Given the description of an element on the screen output the (x, y) to click on. 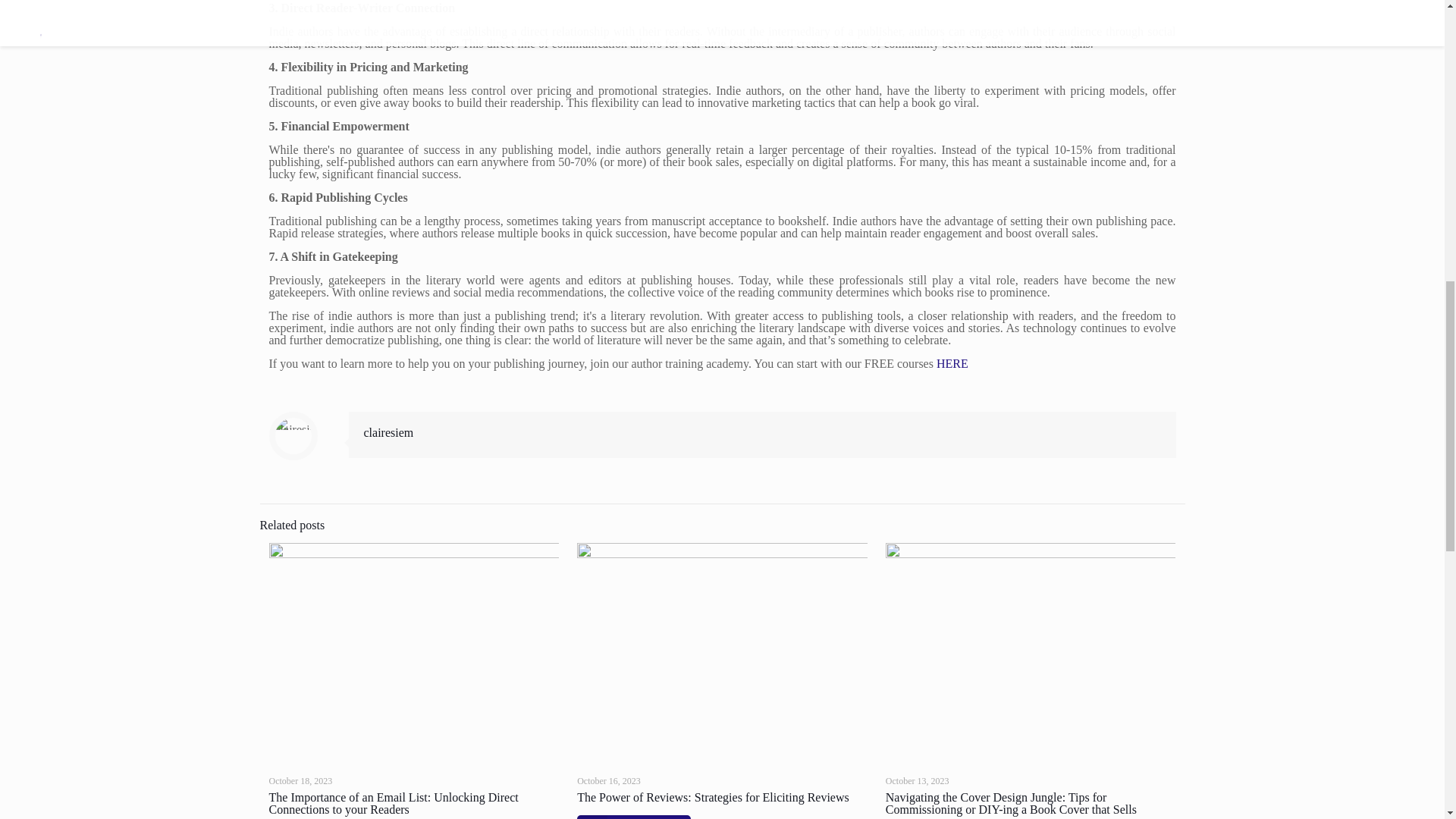
The Power of Reviews: Strategies for Eliciting Reviews (712, 797)
clairesiem (388, 431)
HERE (952, 363)
Read more (633, 816)
